Given the description of an element on the screen output the (x, y) to click on. 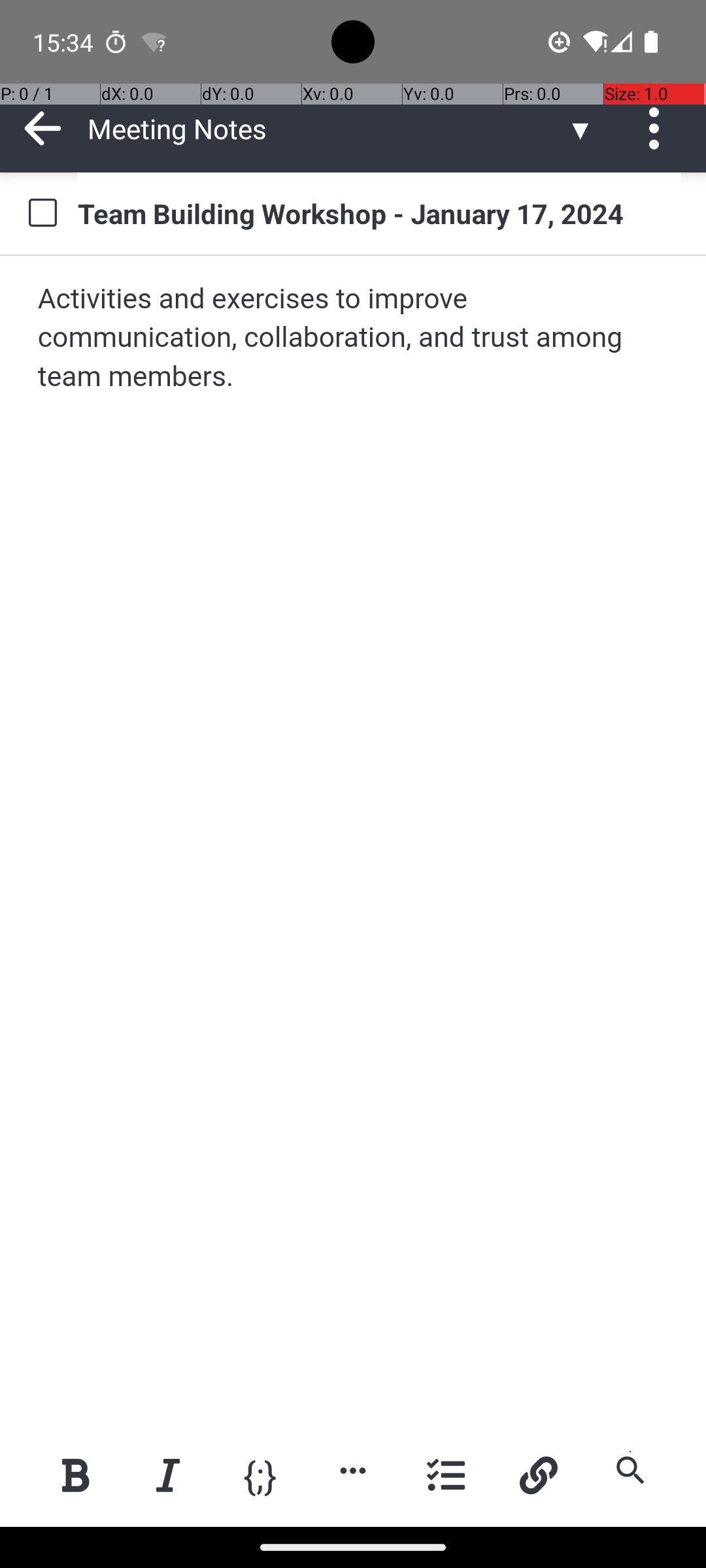
Team Building Workshop - January 17, 2024 Element type: android.widget.EditText (378, 213)
Activities and exercises to improve communication, collaboration, and trust among team members. Element type: android.widget.EditText (354, 338)
